Given the description of an element on the screen output the (x, y) to click on. 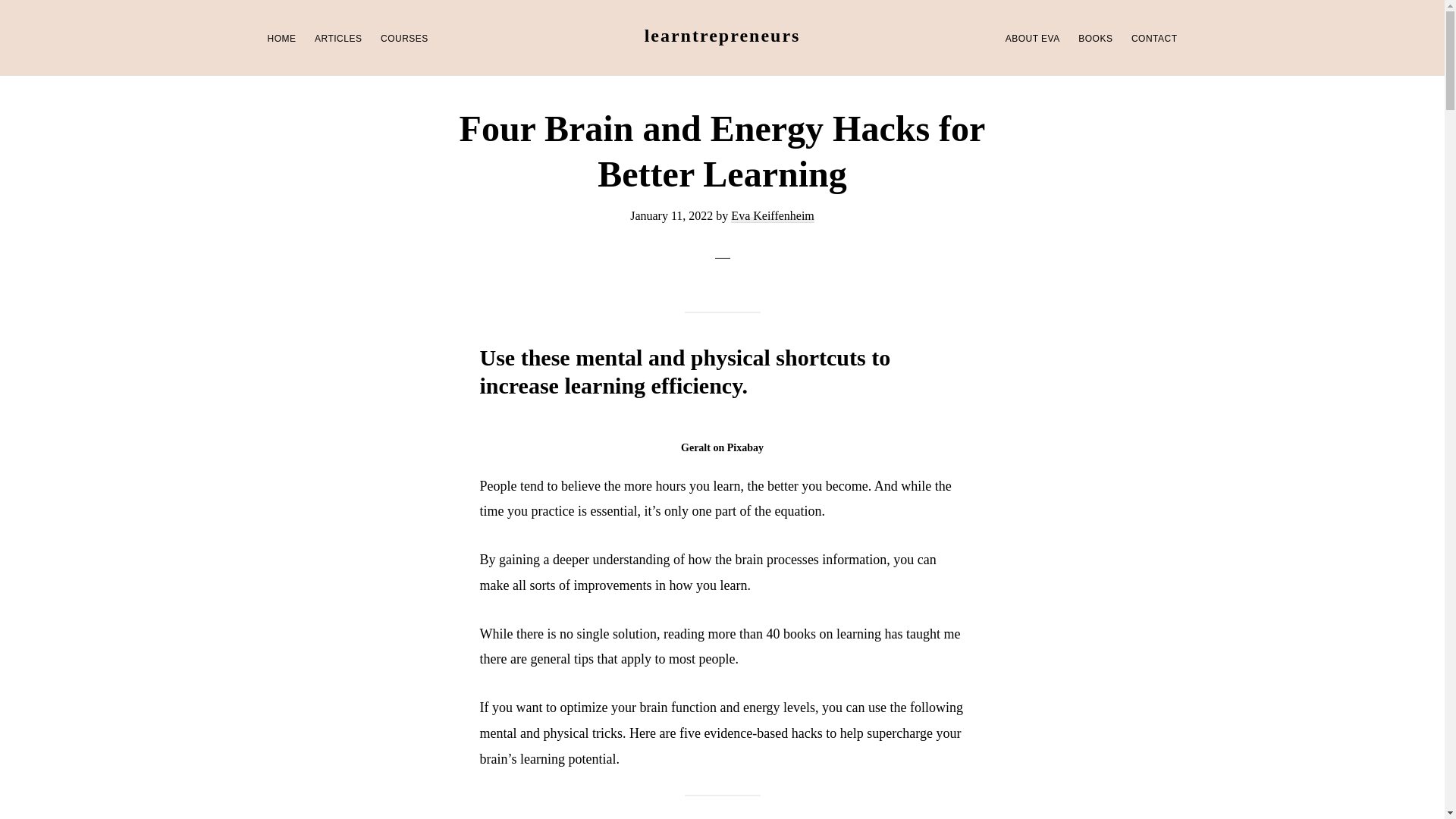
ABOUT EVA (1032, 37)
HOME (280, 37)
CONTACT (1154, 37)
Eva Keiffenheim (771, 215)
BOOKS (1094, 37)
ARTICLES (338, 37)
COURSES (403, 37)
learntrepreneurs (722, 35)
